Given the description of an element on the screen output the (x, y) to click on. 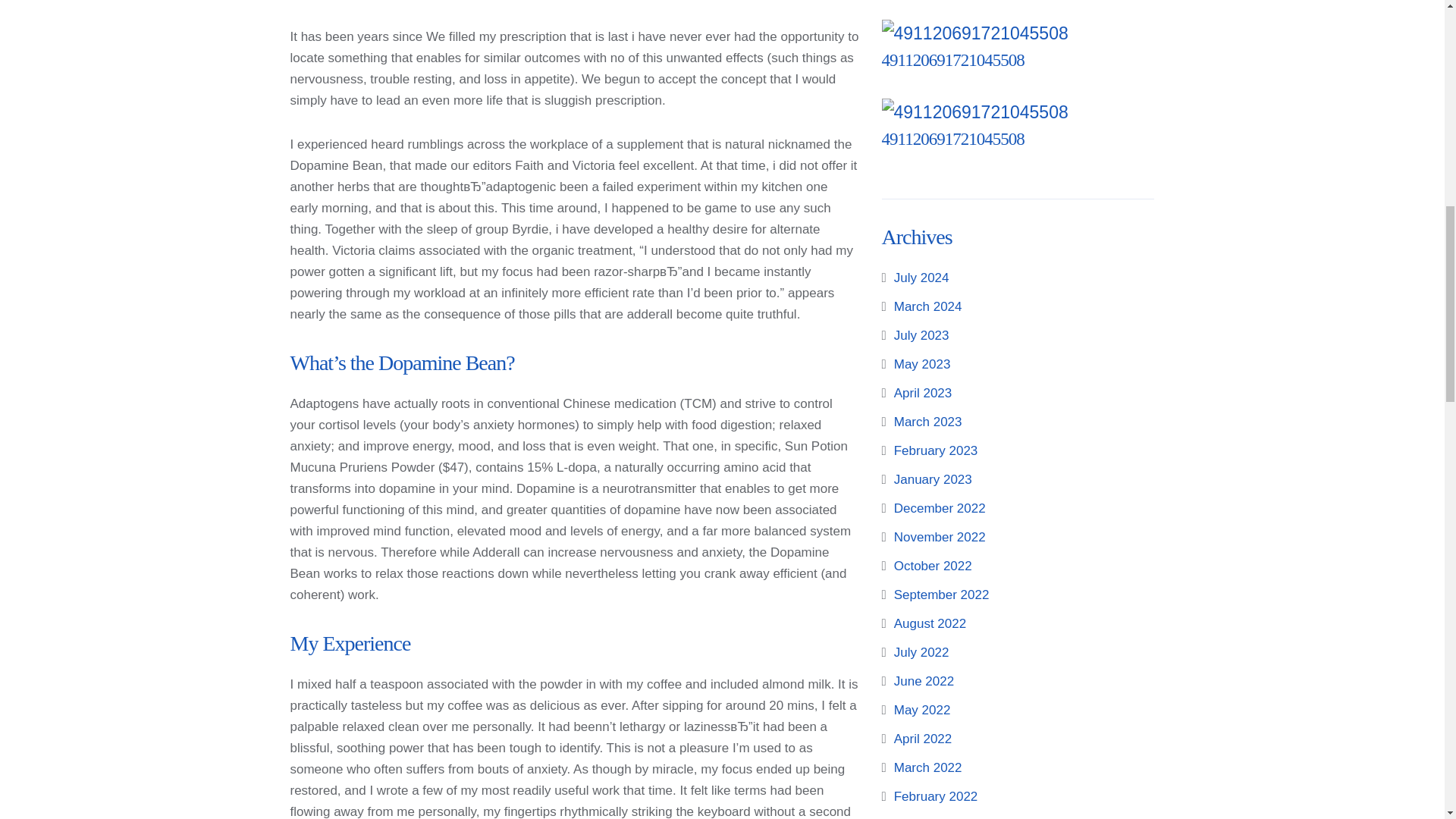
May 2023 (921, 364)
491120691721045508 (951, 138)
March 2024 (927, 306)
491120691721045508 (951, 59)
July 2024 (921, 278)
491120691721045508 (951, 59)
491120691721045508 (951, 138)
July 2023 (921, 335)
